Given the description of an element on the screen output the (x, y) to click on. 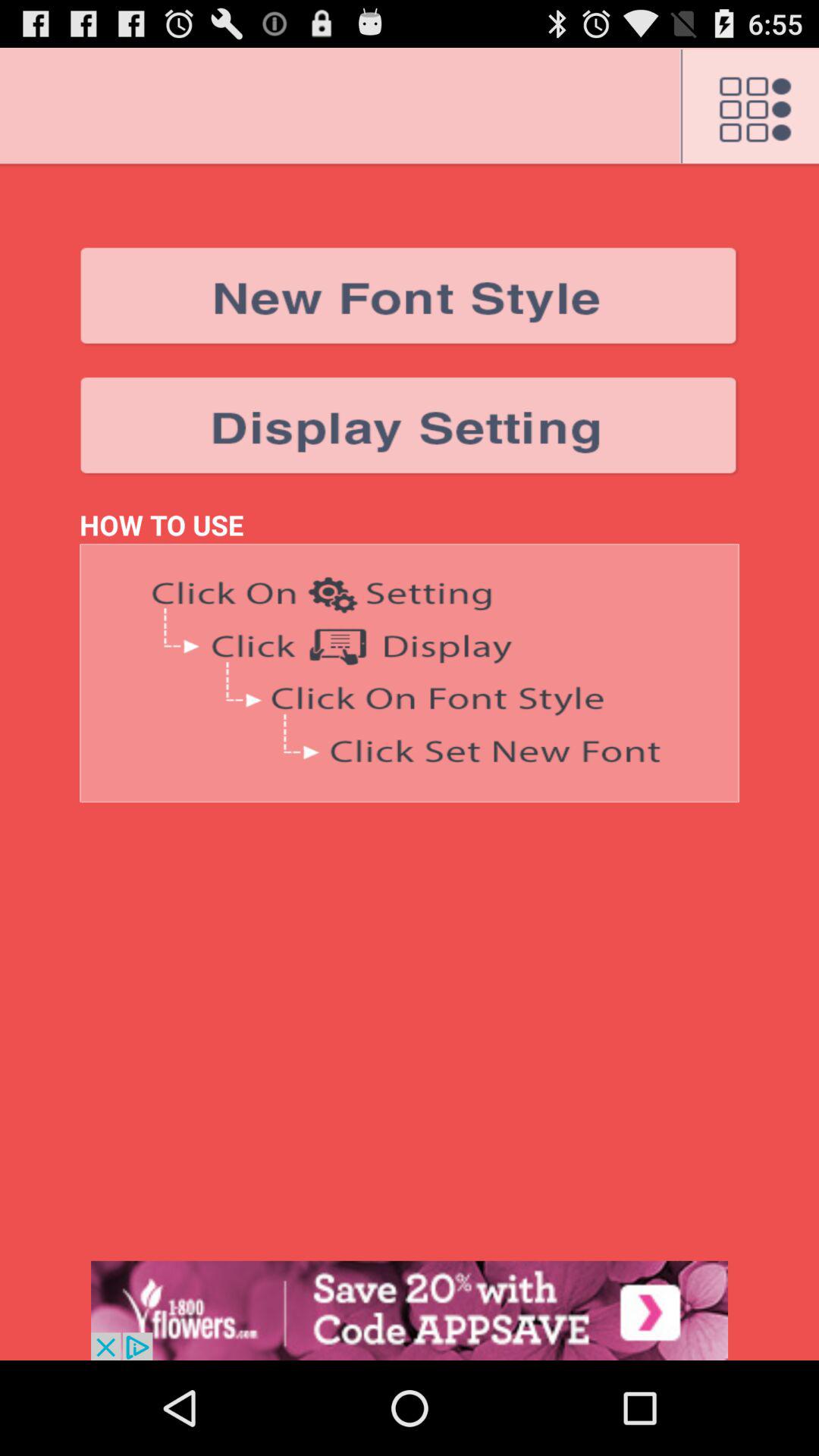
open display setting (409, 426)
